Given the description of an element on the screen output the (x, y) to click on. 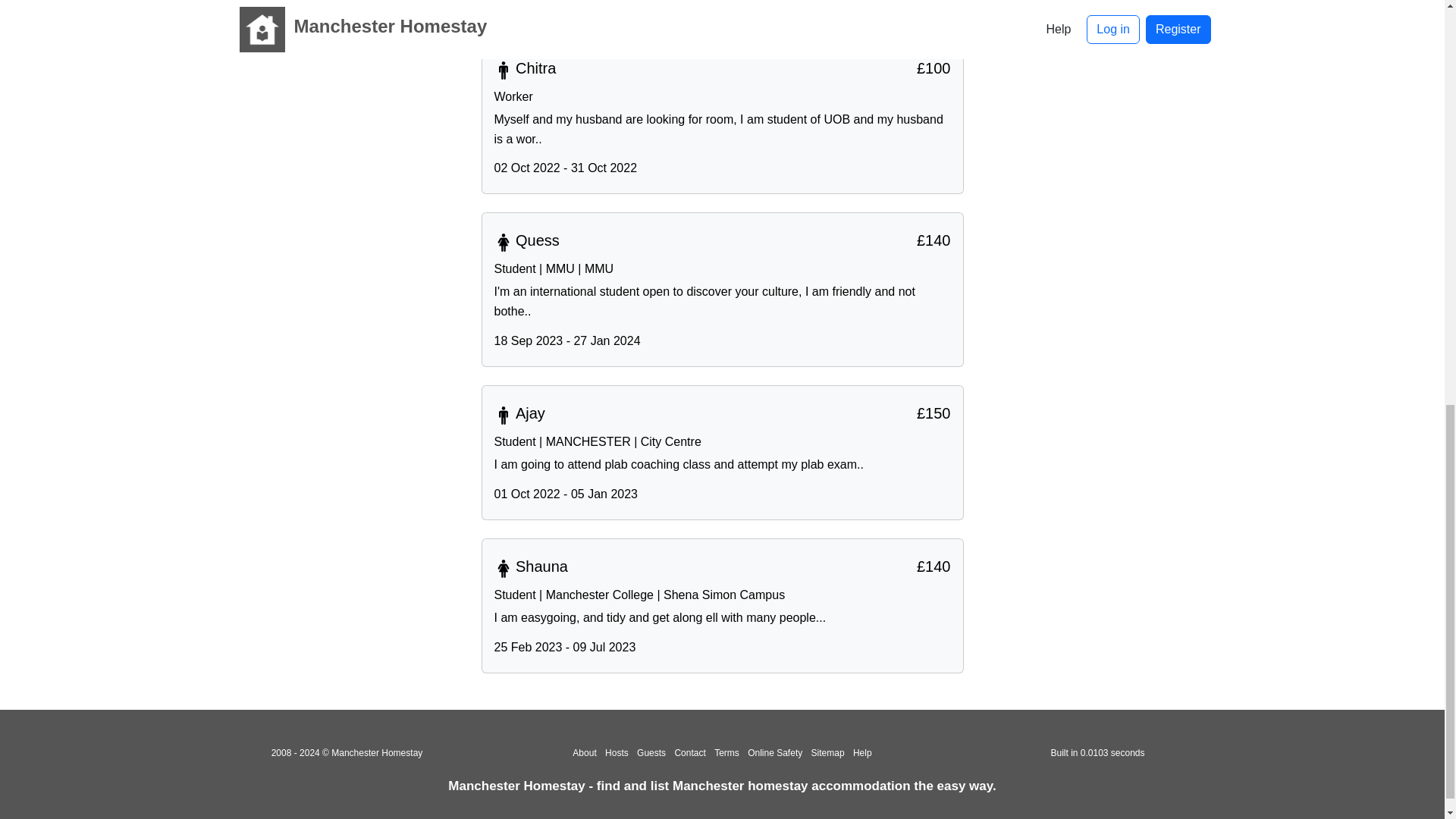
Contact (689, 752)
Terms (726, 752)
About (583, 752)
Hosts (616, 752)
Guests (651, 752)
Online Safety (775, 752)
Help (862, 752)
Sitemap (827, 752)
